Given the description of an element on the screen output the (x, y) to click on. 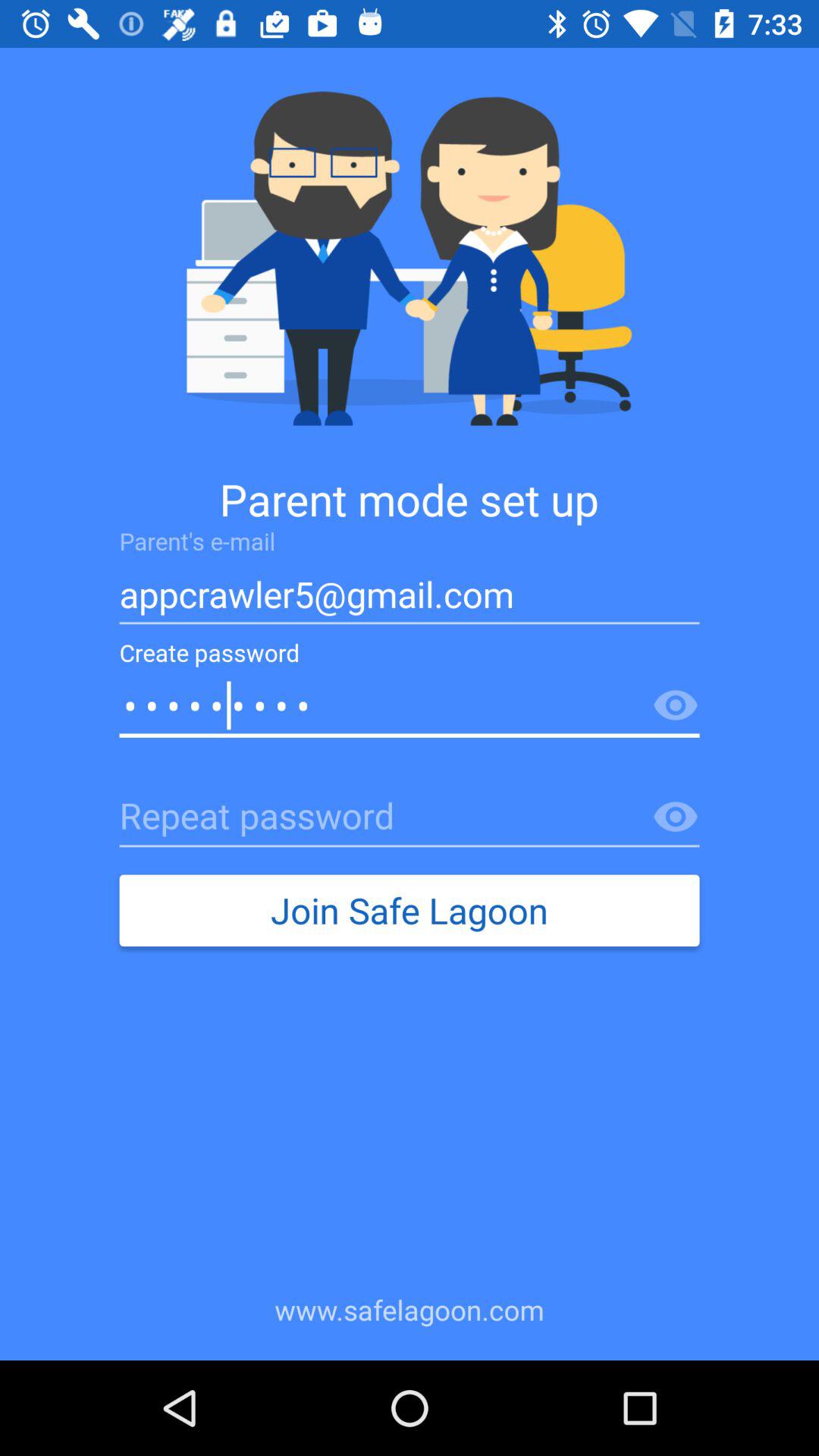
repeat password (409, 817)
